Given the description of an element on the screen output the (x, y) to click on. 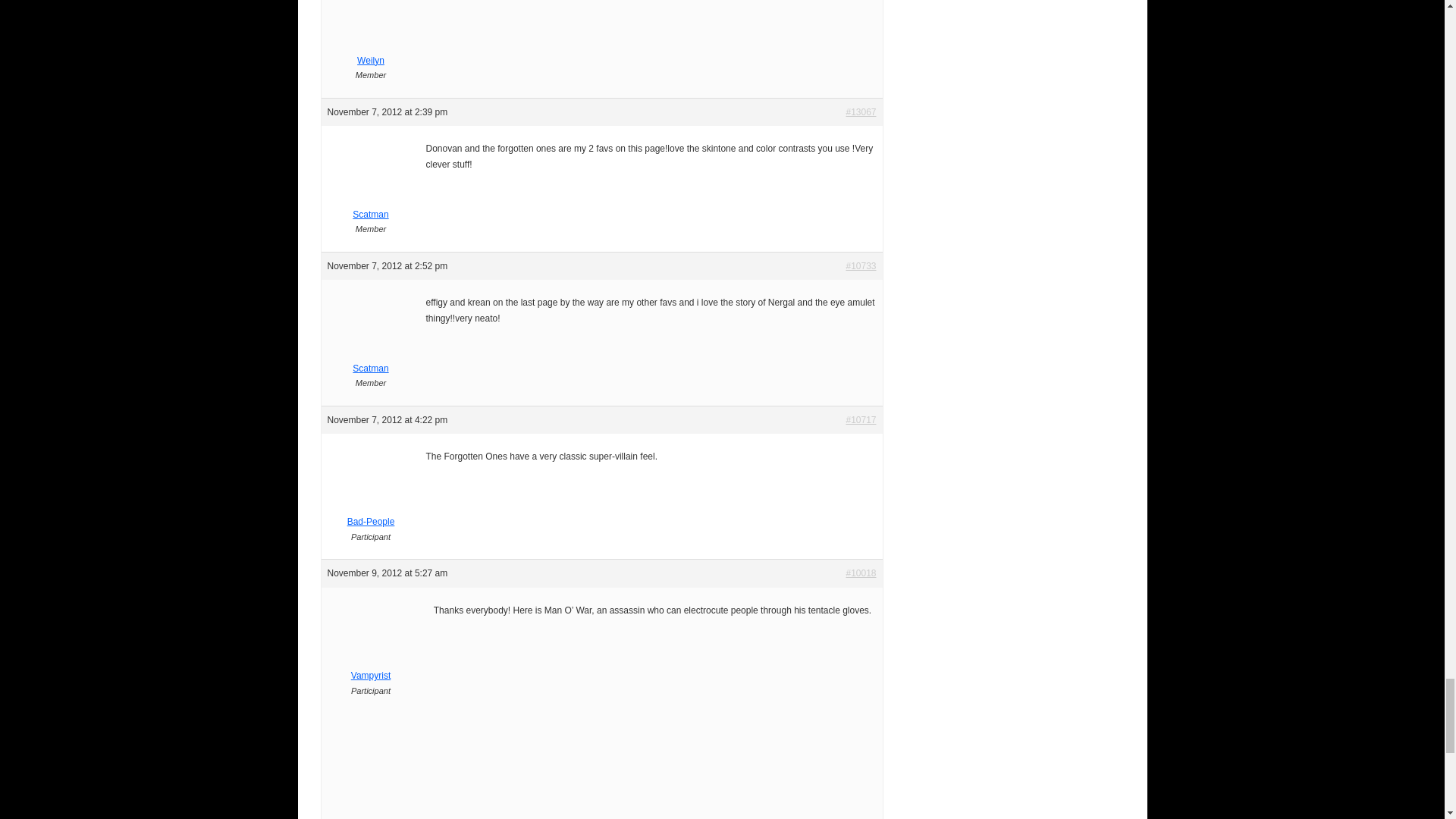
View Scatman's profile (370, 360)
View Scatman's profile (370, 206)
View Weilyn's profile (370, 52)
View Bad-People's profile (370, 514)
